Given the description of an element on the screen output the (x, y) to click on. 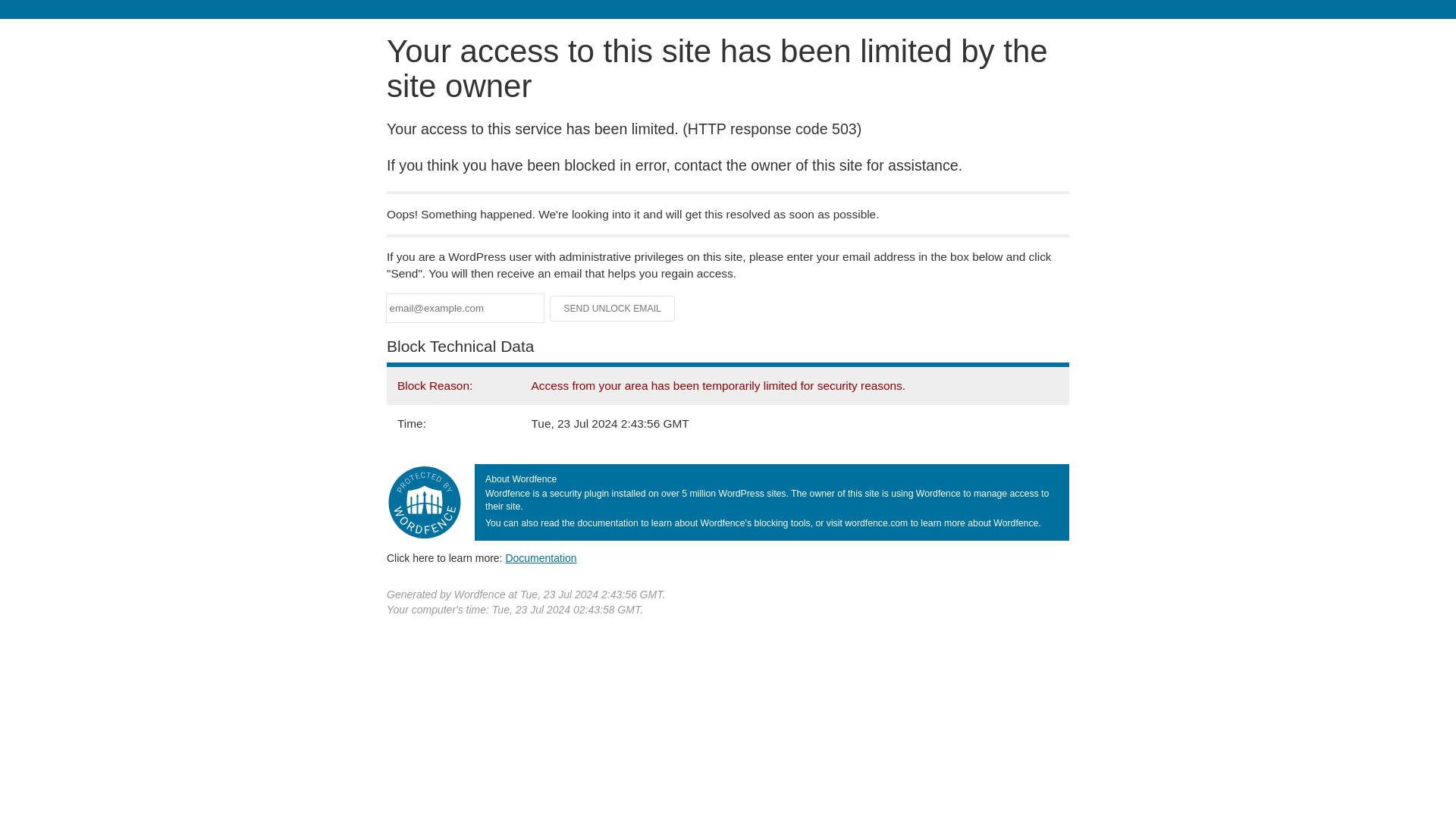
Documentation (540, 558)
Send Unlock Email (612, 308)
Send Unlock Email (612, 308)
